Given the description of an element on the screen output the (x, y) to click on. 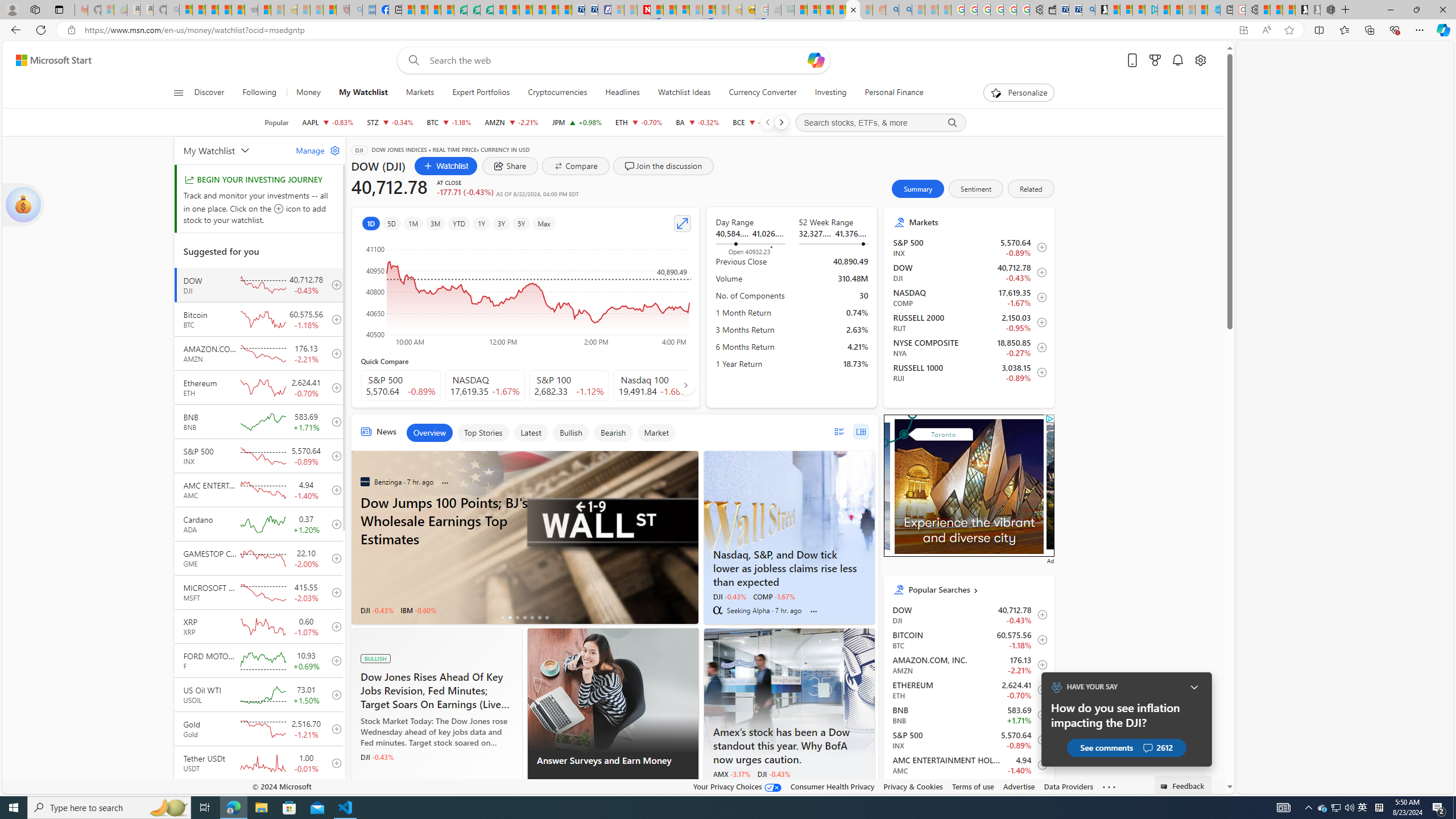
YTD (458, 223)
Seeking Alpha (716, 610)
Watchlist Ideas (683, 92)
